Given the description of an element on the screen output the (x, y) to click on. 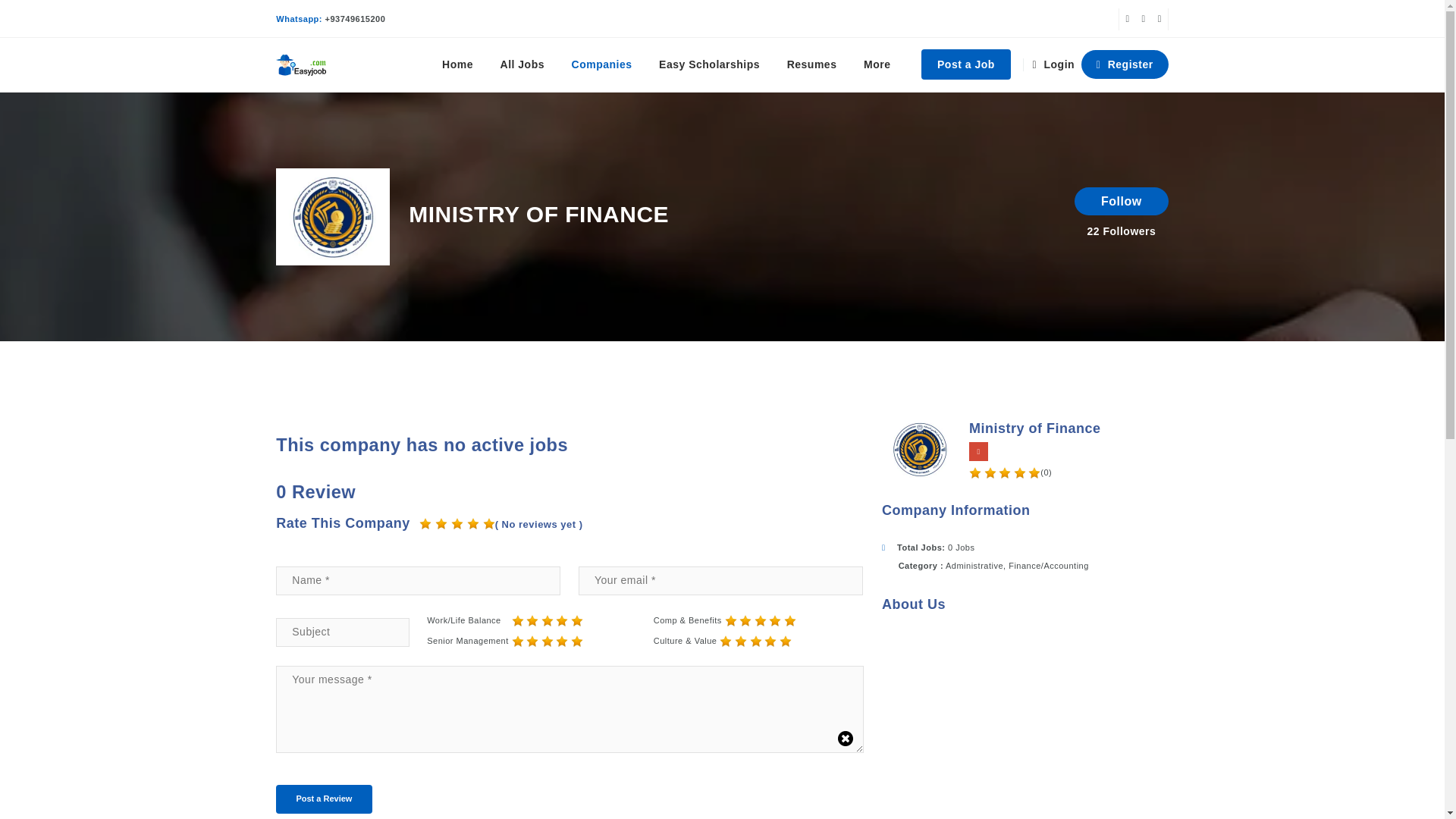
Companies (602, 64)
good (774, 621)
gorgeous (473, 523)
good (561, 621)
Find your Jobs in Afghanistan (306, 64)
bad (730, 621)
gorgeous (576, 621)
gorgeous (489, 523)
gorgeous (424, 523)
Post a Review (323, 799)
 Register (1125, 63)
Home (456, 64)
Resumes (811, 64)
poor (745, 621)
regular (547, 621)
